Given the description of an element on the screen output the (x, y) to click on. 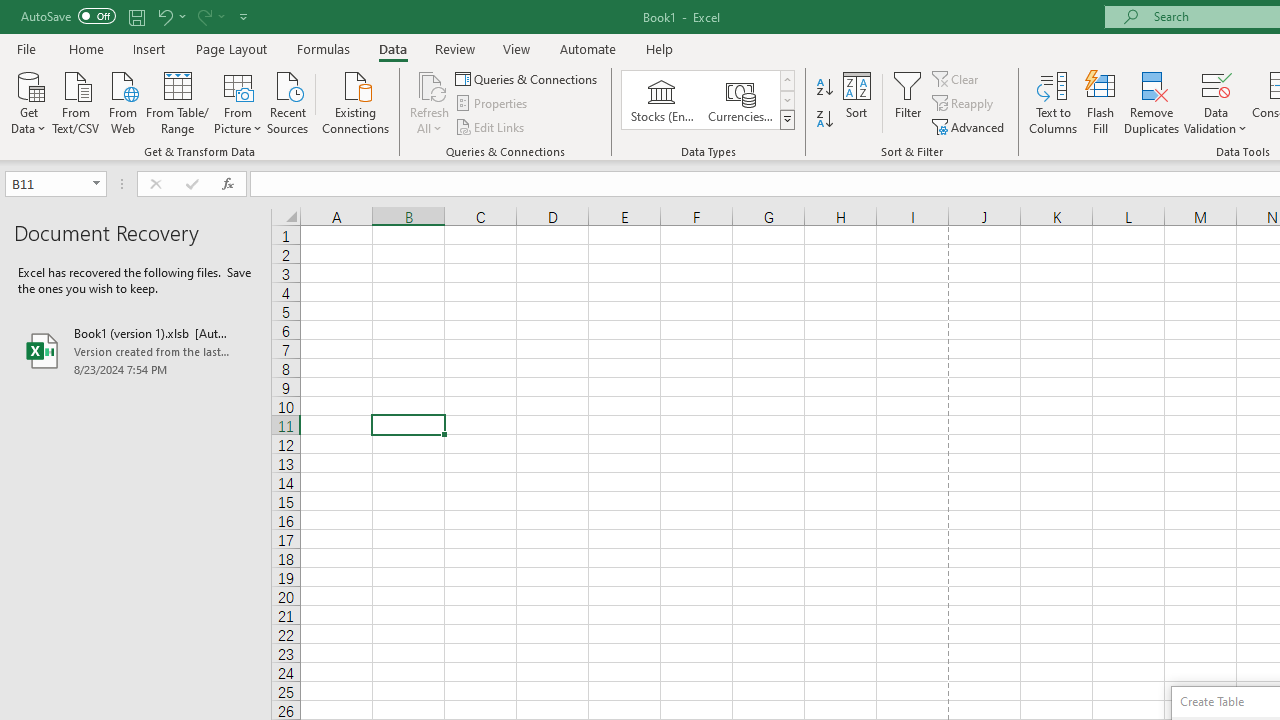
Text to Columns... (1053, 102)
From Web (122, 101)
Stocks (English) (662, 100)
Flash Fill (1101, 102)
Recent Sources (287, 101)
